Given the description of an element on the screen output the (x, y) to click on. 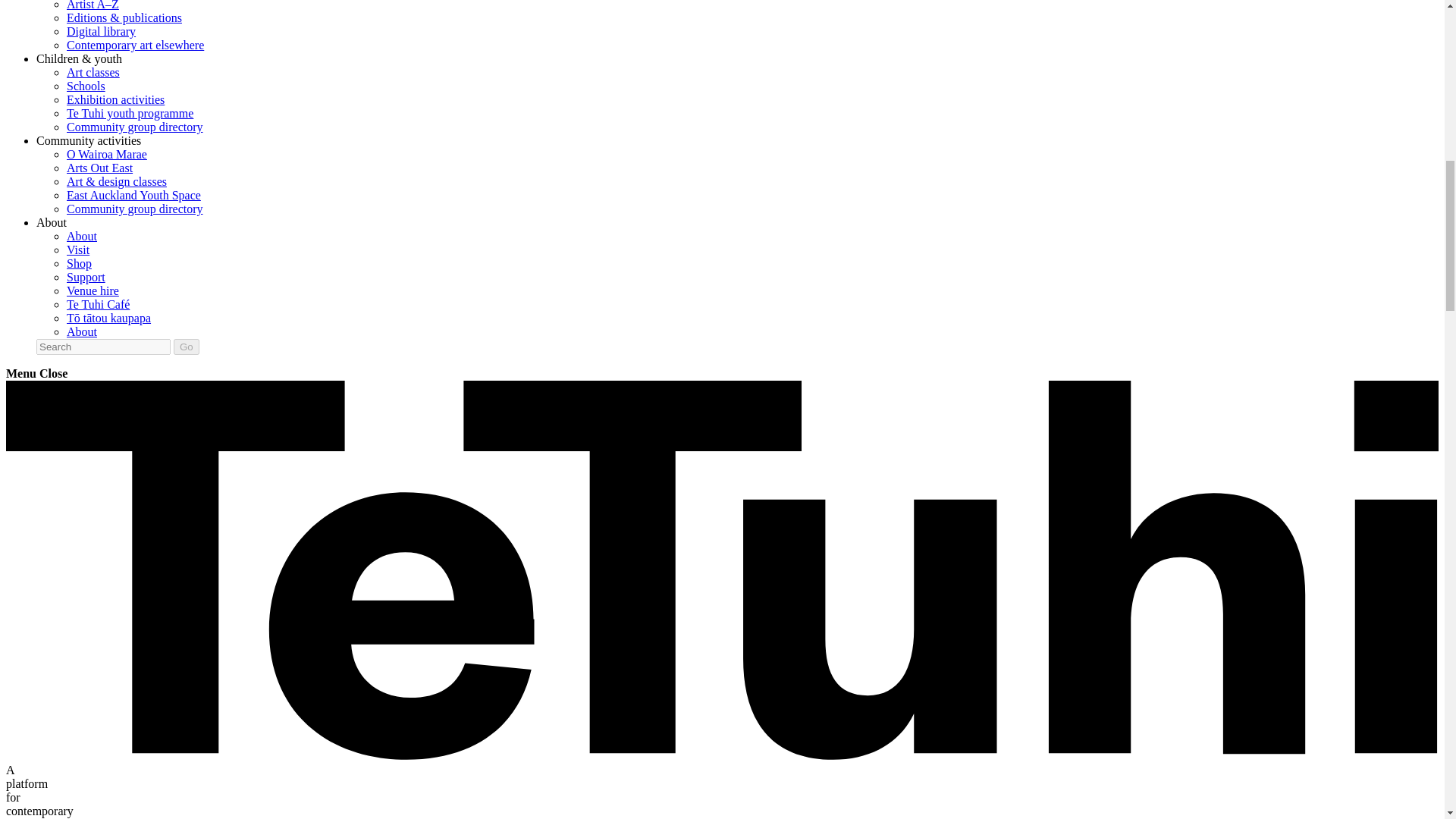
Search (103, 346)
Go (186, 346)
